Given the description of an element on the screen output the (x, y) to click on. 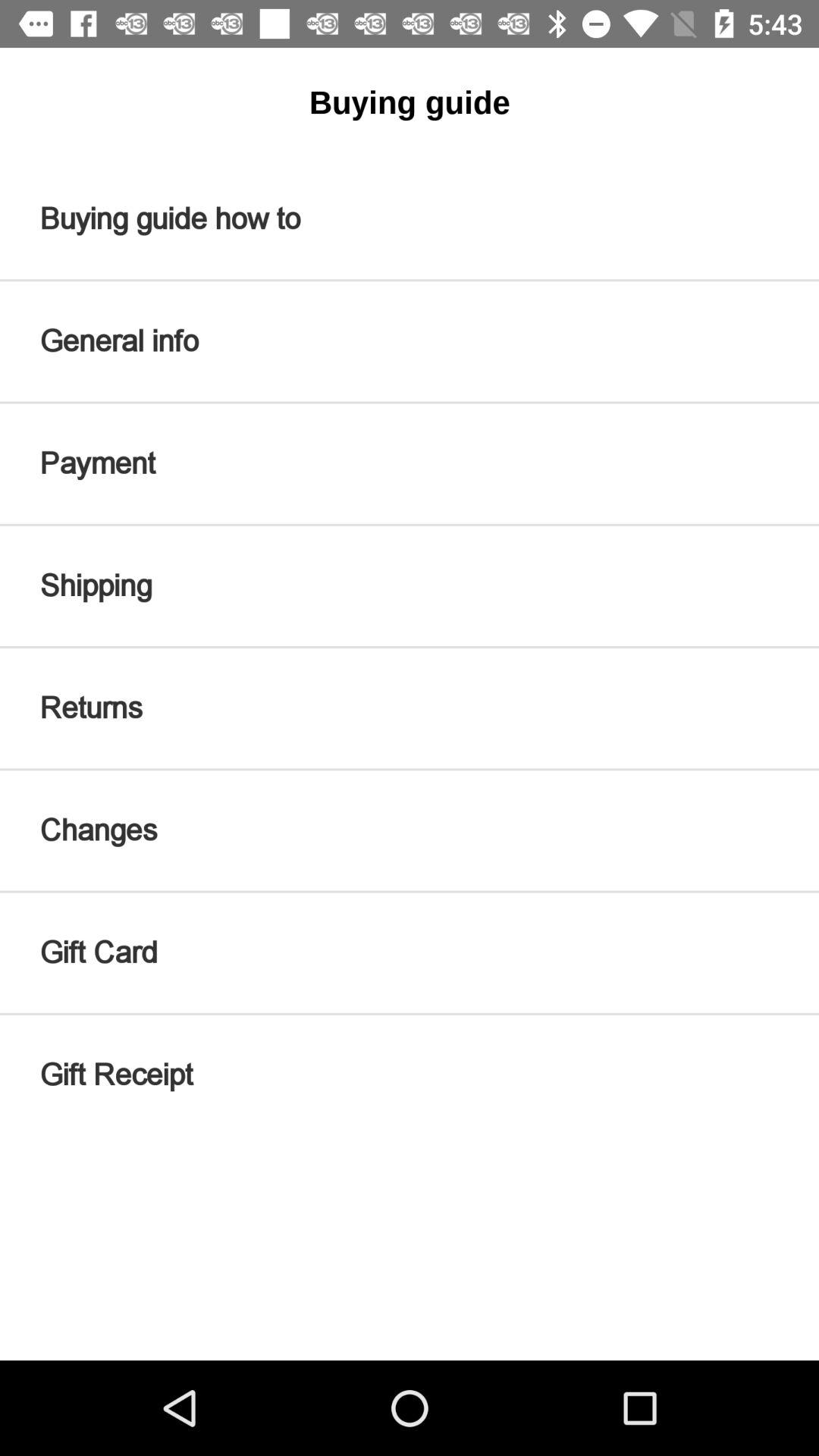
open the item above the gift card (409, 830)
